Given the description of an element on the screen output the (x, y) to click on. 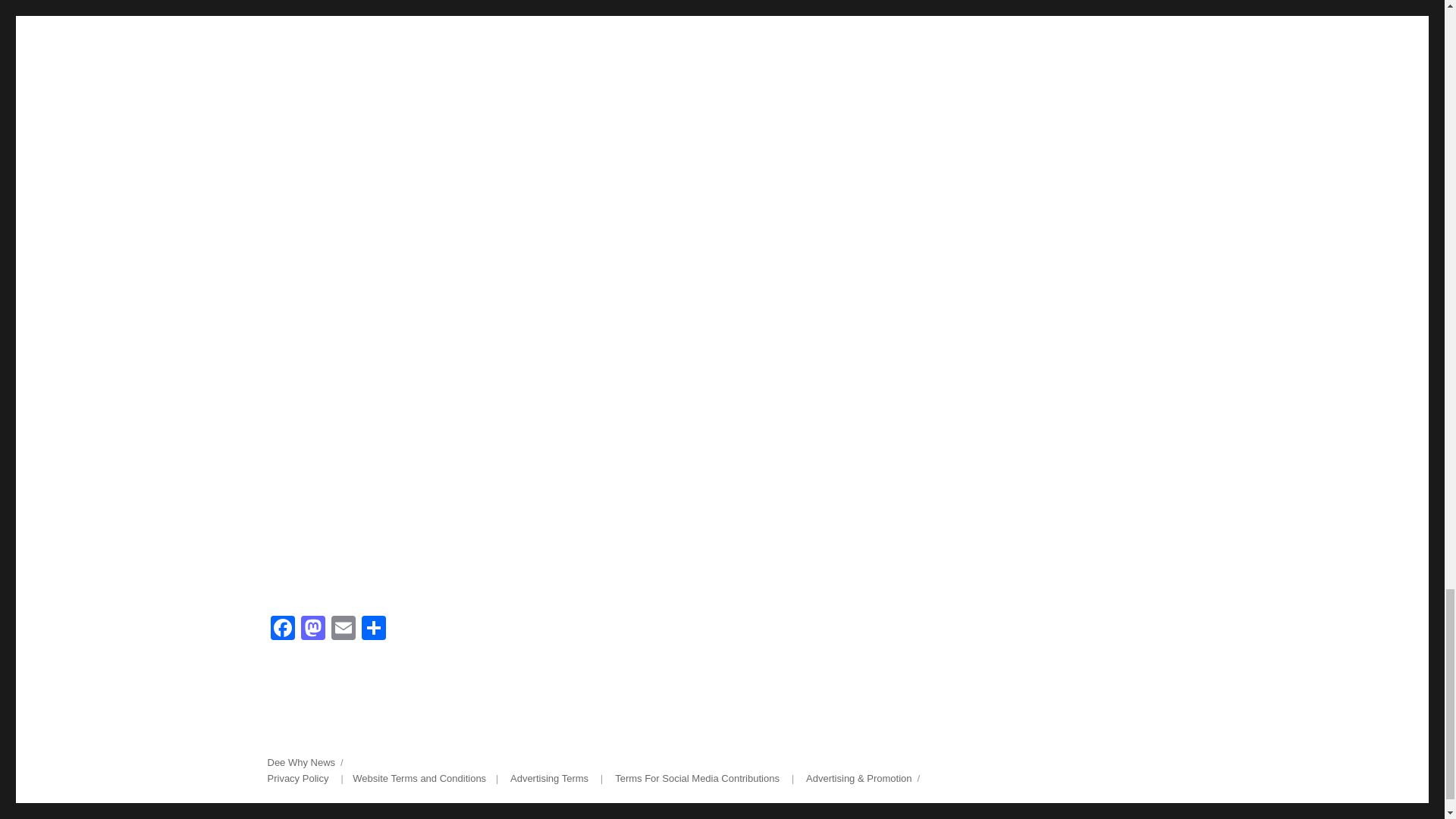
Email (342, 629)
Terms For Social Media Contributions (696, 778)
Dee Why News (300, 762)
Privacy Policy (297, 778)
Advertising Terms (549, 778)
Mastodon (312, 629)
Website Terms and Conditions (419, 778)
Facebook (281, 629)
Facebook (281, 629)
Mastodon (312, 629)
Email (342, 629)
